Given the description of an element on the screen output the (x, y) to click on. 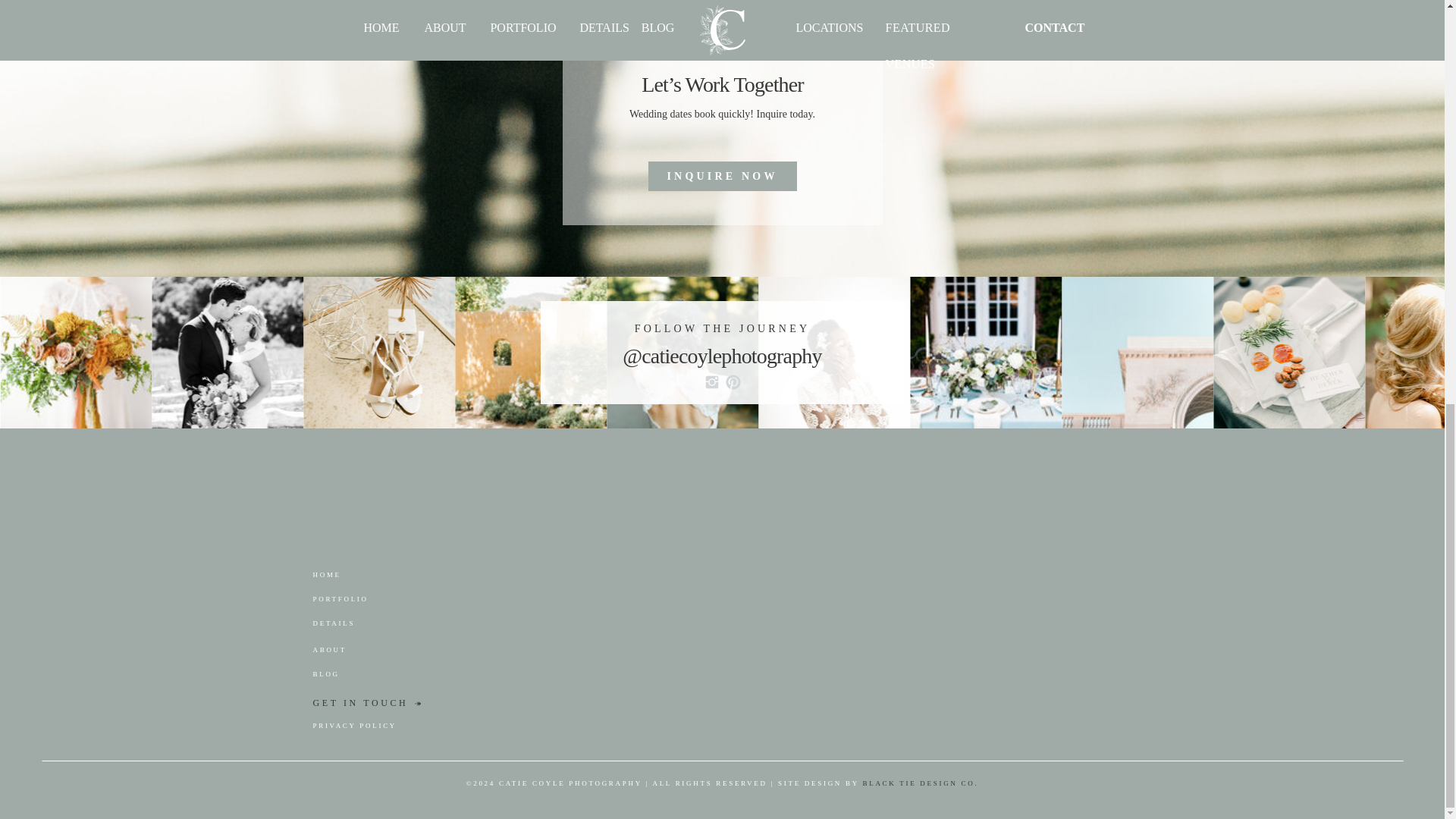
catie-coyle-photography-119 (378, 352)
catie-coyle-photography-117 (226, 352)
catie-coyle-photography-133 (682, 352)
catie-coyle-photography-29 (834, 352)
catie-coyle-photography-115 (75, 352)
catie-coyle-photography-73 (1136, 352)
catie-coyle-photography-131 (530, 352)
catie-coyle-photography-31 (985, 352)
catie-coyle-photography-18 (1288, 352)
